Given the description of an element on the screen output the (x, y) to click on. 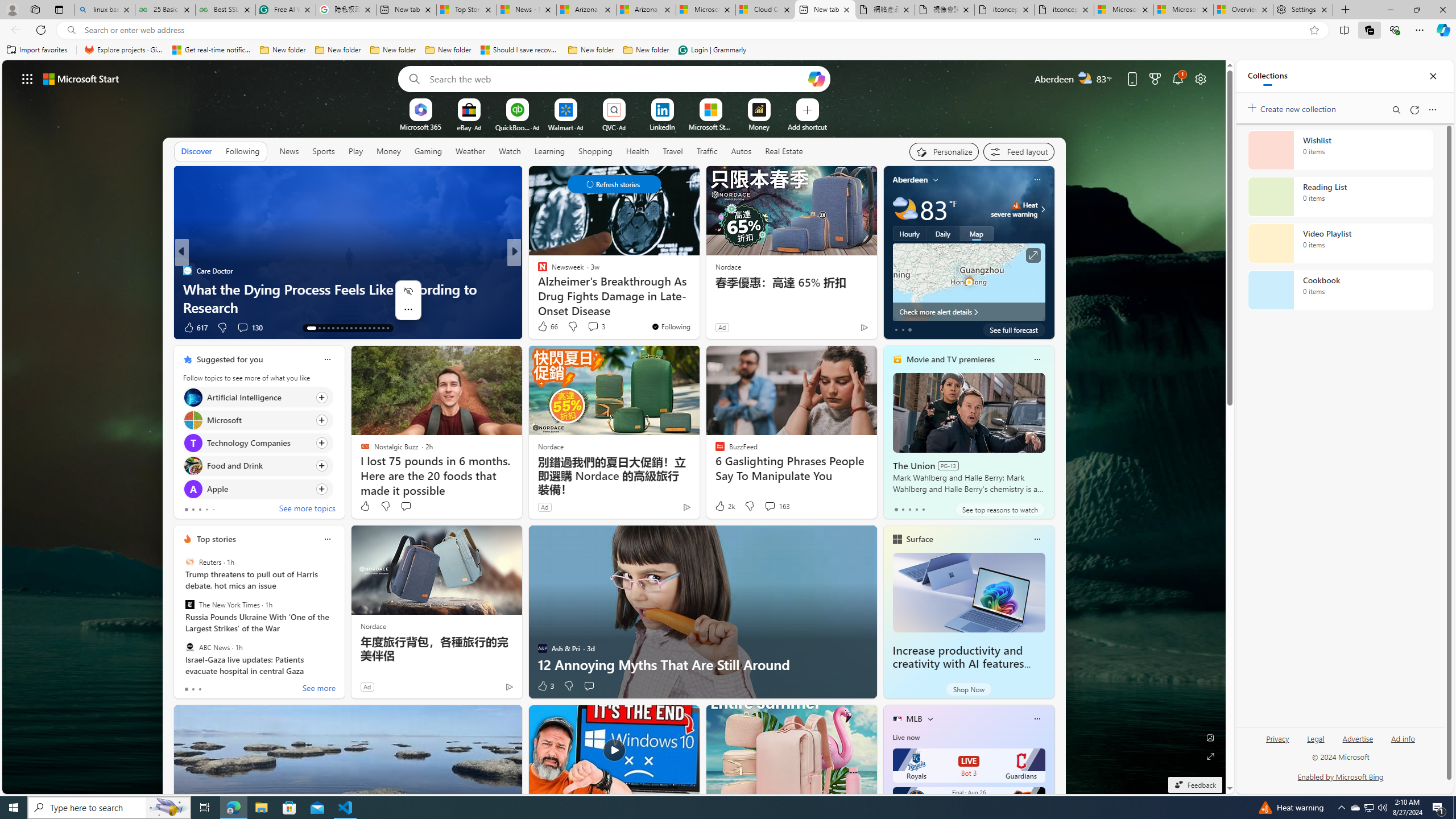
Expand background (1210, 756)
Reader's Digest (537, 270)
Microsoft (192, 419)
Daily Mail (187, 270)
AutomationID: tab-25 (368, 328)
Maritime Fixers (697, 307)
Cookbook collection, 0 items (1339, 289)
AutomationID: tab-24 (364, 328)
tab-3 (916, 509)
Mini menu on text selection (408, 299)
